Given the description of an element on the screen output the (x, y) to click on. 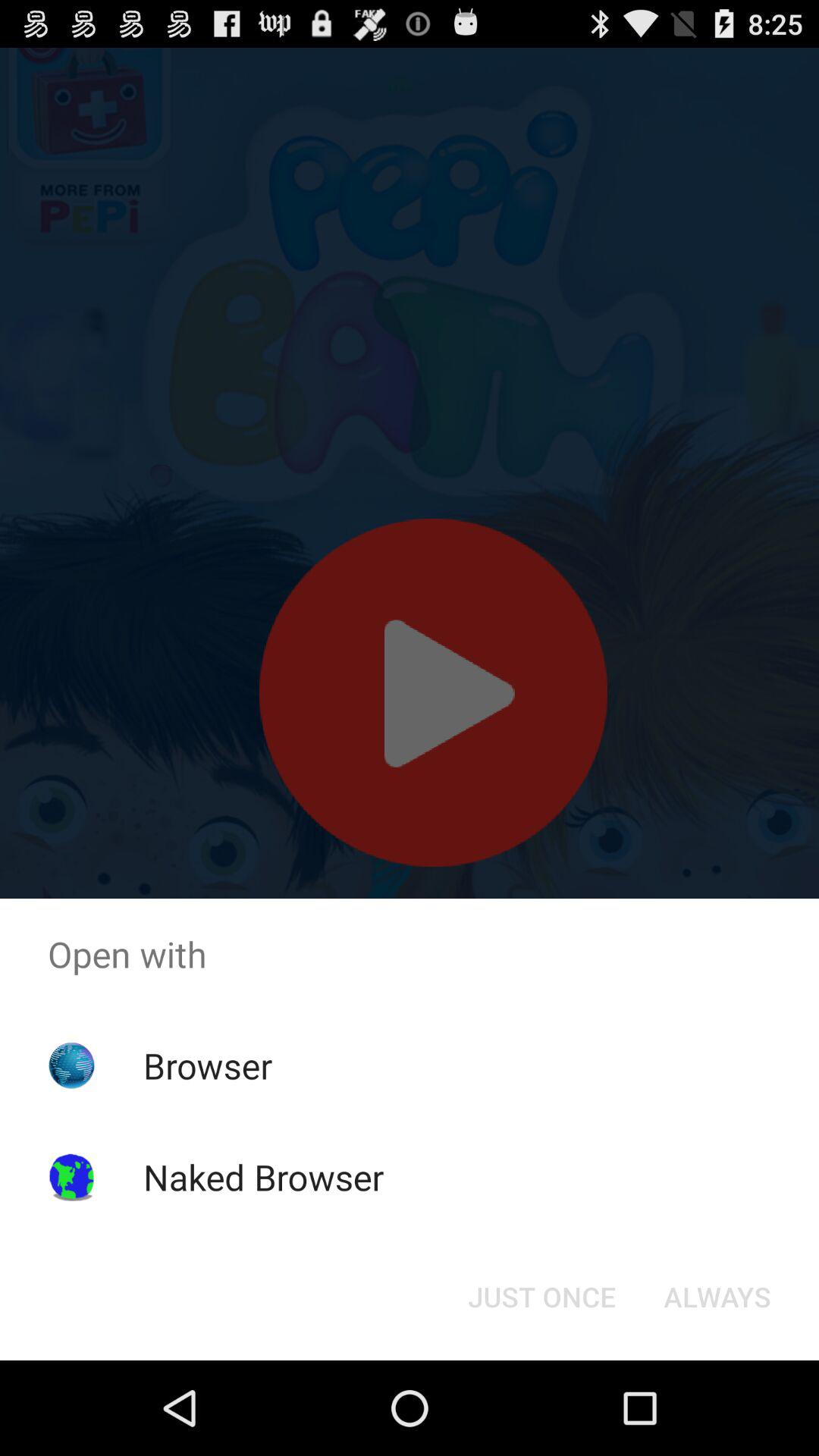
scroll until the naked browser icon (263, 1176)
